Given the description of an element on the screen output the (x, y) to click on. 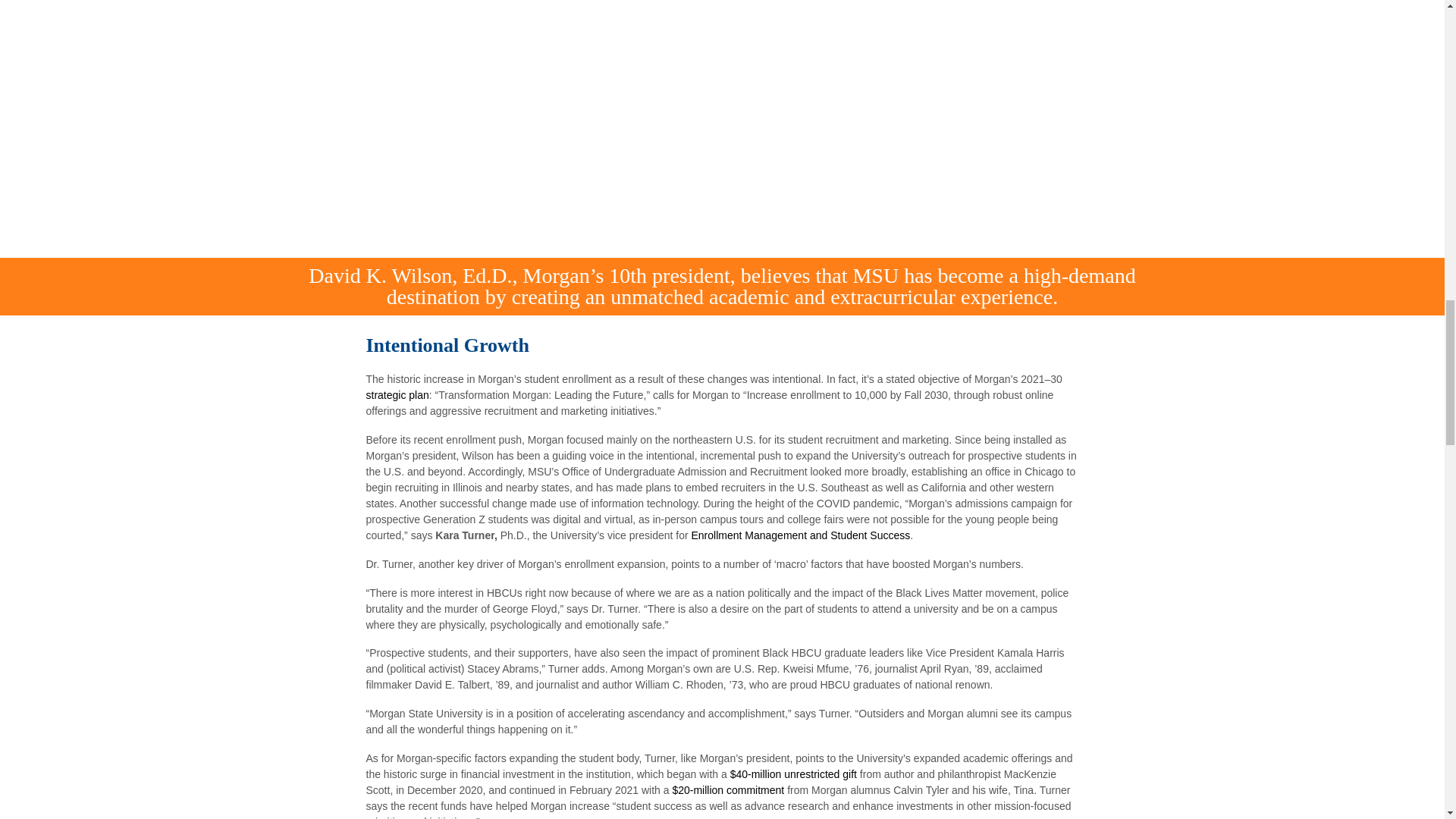
strategic plan (396, 395)
Enrollment Management and Student Success (801, 535)
